Given the description of an element on the screen output the (x, y) to click on. 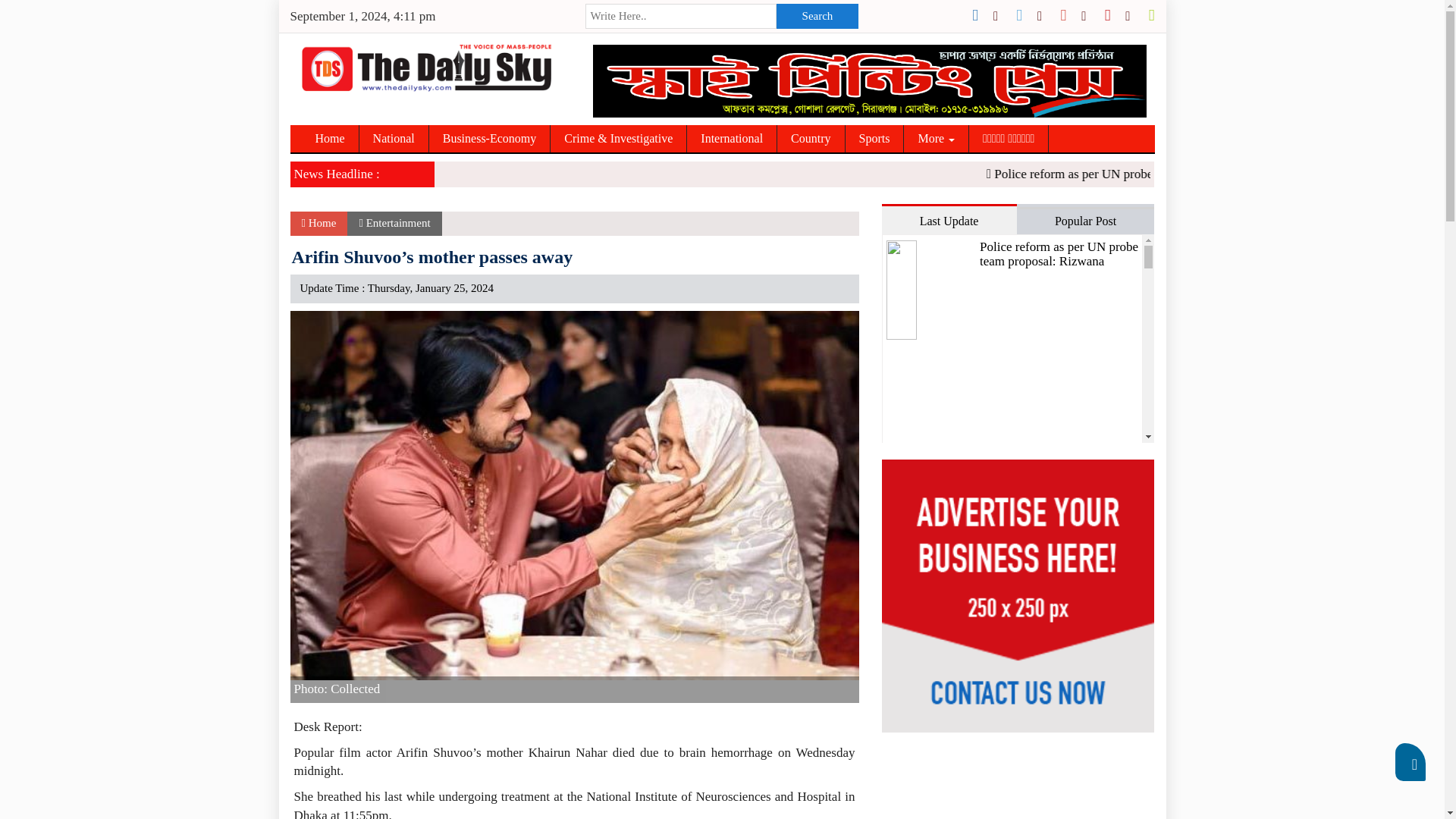
Home (318, 223)
Country (810, 138)
More (936, 138)
Business-Economy (490, 138)
National (394, 138)
Police reform as per UN probe team proposal: Rizwana (1256, 173)
International (732, 138)
Country (810, 138)
Business-Economy (490, 138)
Entertainment (398, 223)
